Given the description of an element on the screen output the (x, y) to click on. 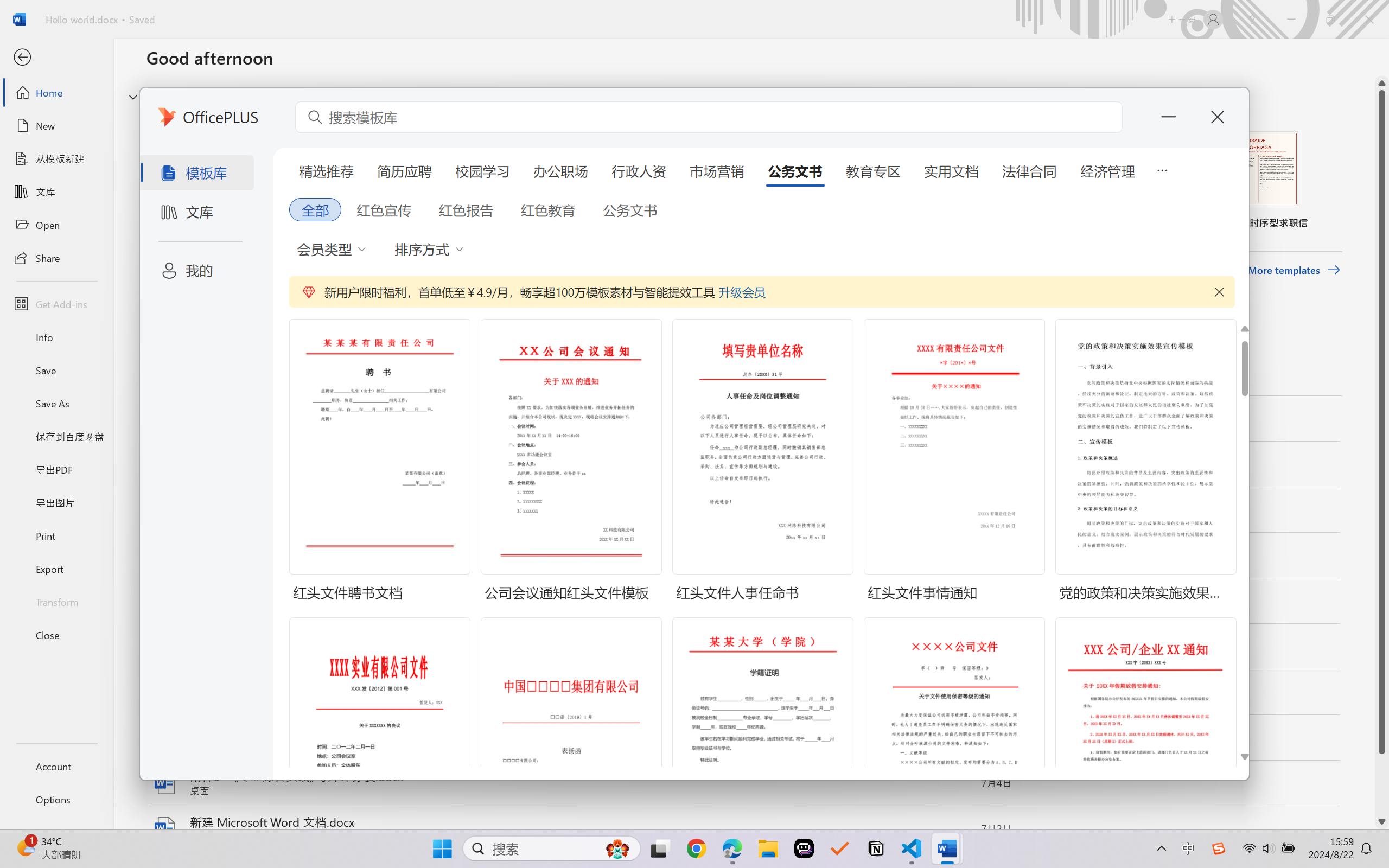
Open (56, 224)
